Given the description of an element on the screen output the (x, y) to click on. 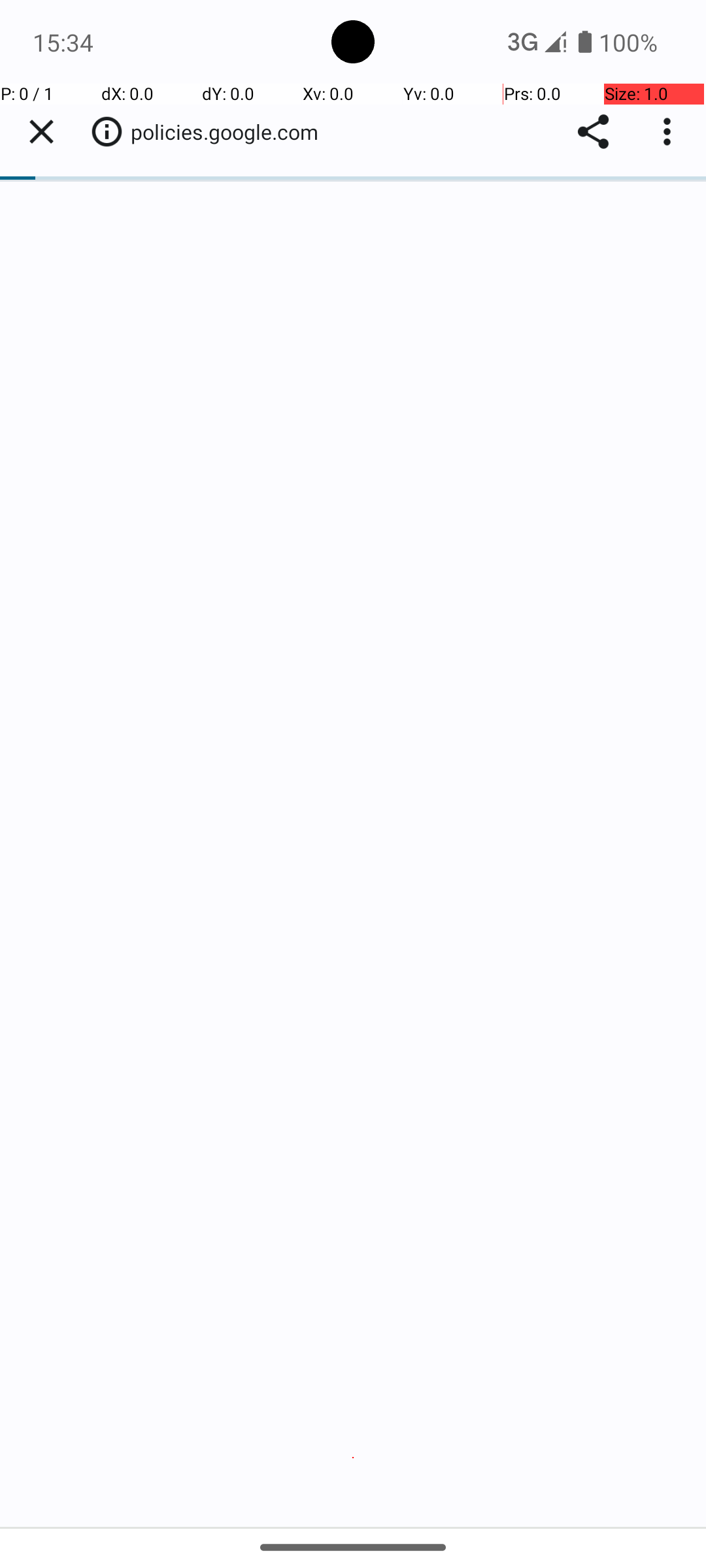
policies.google.com Element type: android.widget.TextView (231, 131)
